Given the description of an element on the screen output the (x, y) to click on. 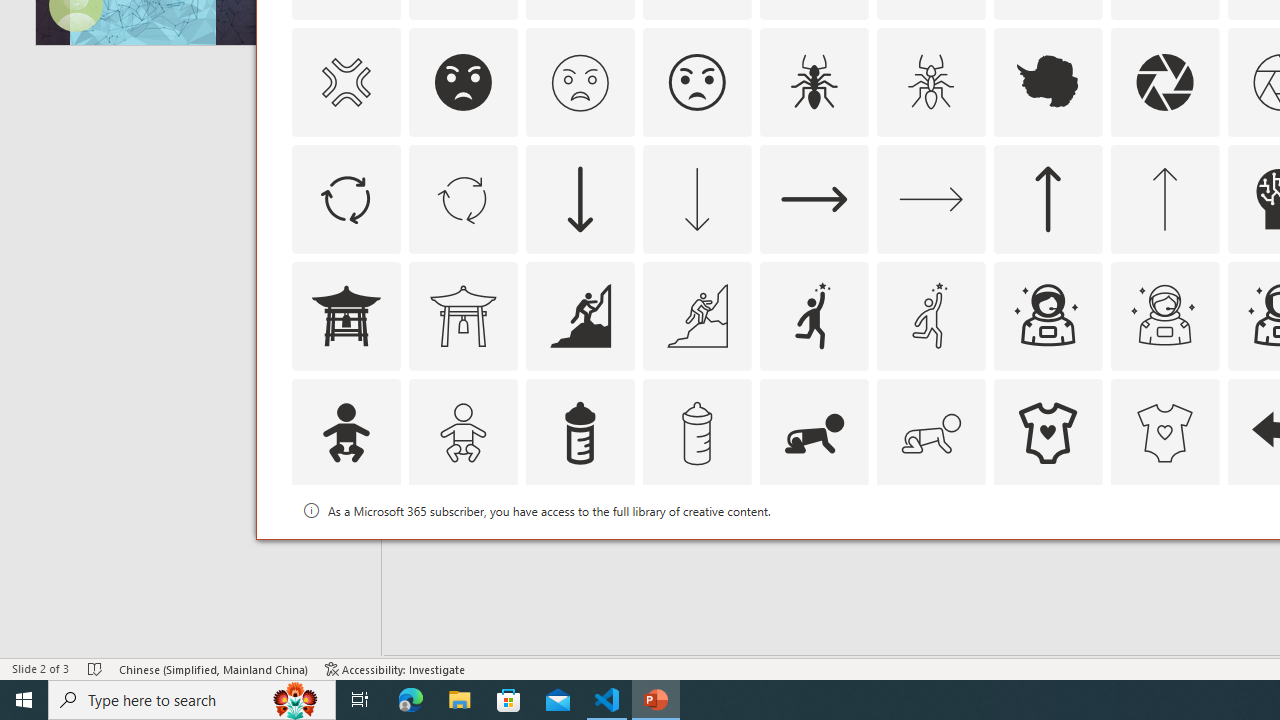
AutomationID: Icons_BabyCrawling_M (930, 432)
AutomationID: Icons_Badge10_M (345, 550)
AutomationID: Icons_Aspiration1_M (930, 316)
AutomationID: Icons_ArrowUp (1048, 198)
AutomationID: Icons_AngryFace (463, 82)
AutomationID: Icons_Badge4_M (1048, 550)
AutomationID: Icons_Ant (813, 82)
AutomationID: Icons_Badge3 (696, 550)
AutomationID: Icons_Badge3_M (813, 550)
AutomationID: Icons_ArrowRight_M (930, 198)
AutomationID: Icons_AngerSymbol_M (345, 82)
